Given the description of an element on the screen output the (x, y) to click on. 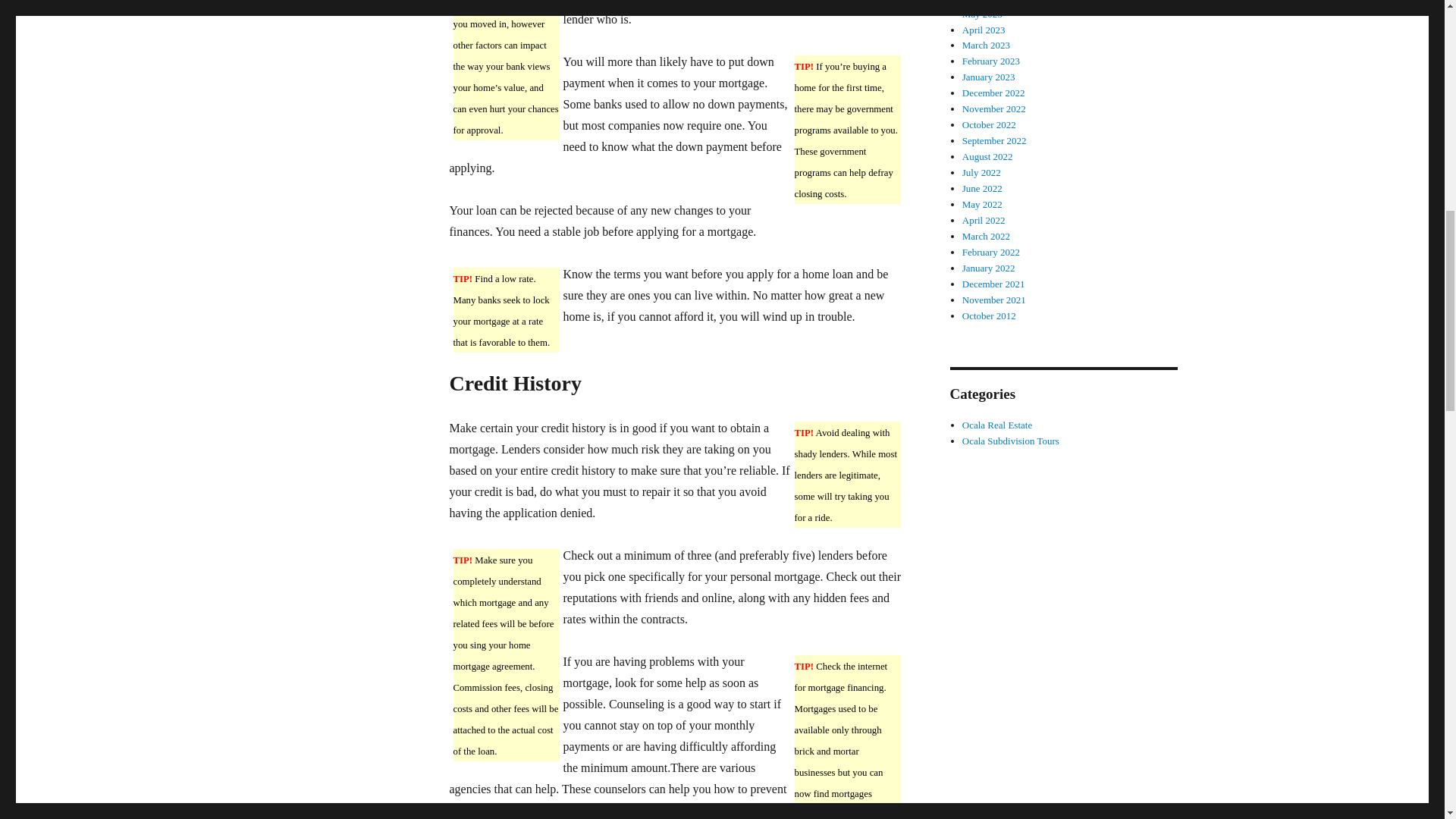
August 2022 (987, 156)
March 2022 (986, 235)
December 2022 (993, 92)
July 2022 (981, 172)
October 2022 (989, 124)
June 2023 (982, 2)
September 2022 (994, 140)
March 2023 (986, 44)
January 2023 (988, 76)
May 2023 (982, 13)
June 2022 (982, 188)
May 2022 (982, 204)
April 2022 (984, 220)
November 2022 (994, 108)
February 2023 (991, 60)
